Given the description of an element on the screen output the (x, y) to click on. 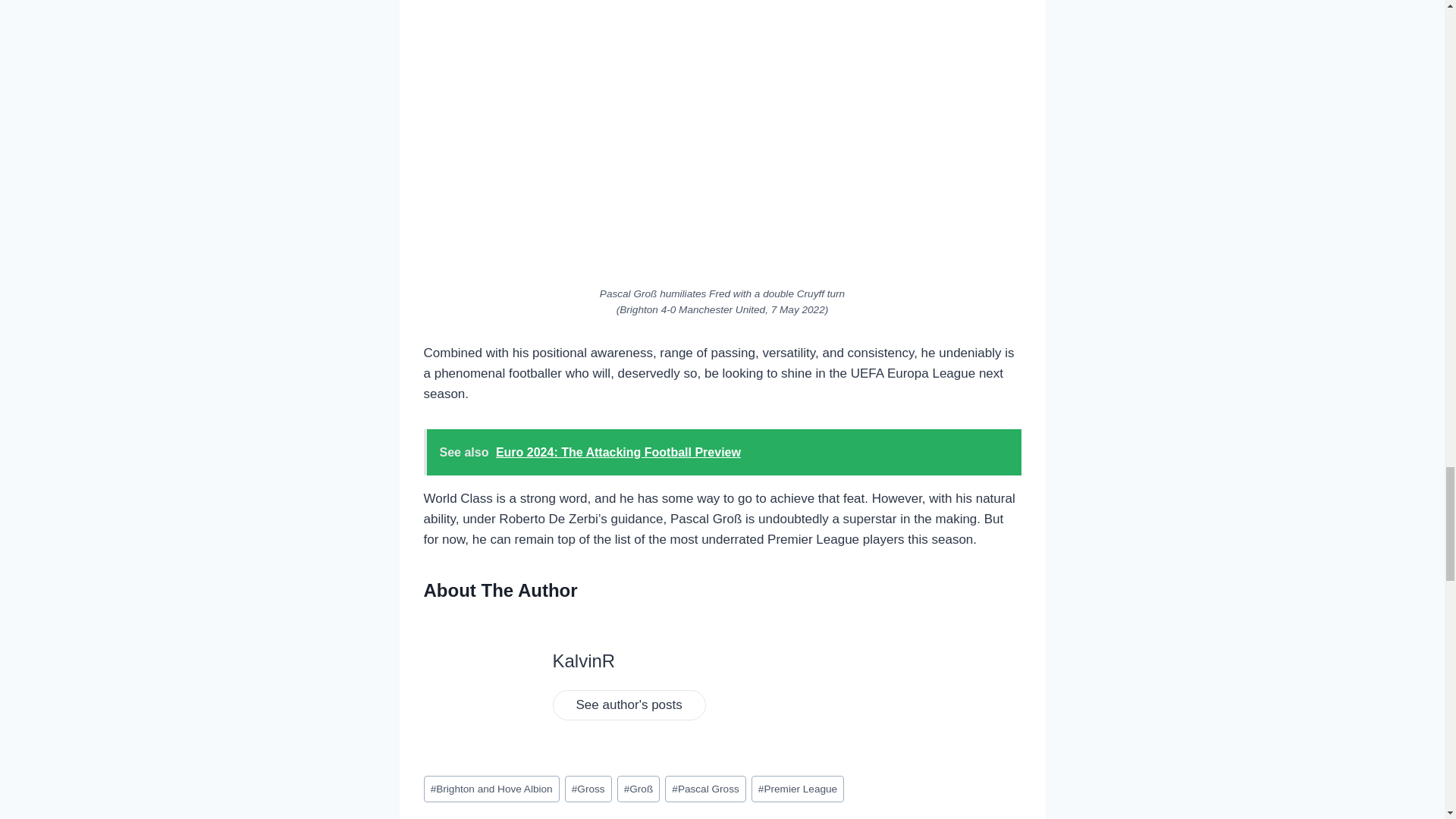
Pascal Gross (705, 788)
Gross (587, 788)
KalvinR (582, 660)
See author's posts (627, 704)
See also  Euro 2024: The Attacking Football Preview (721, 452)
Brighton and Hove Albion (491, 788)
